Given the description of an element on the screen output the (x, y) to click on. 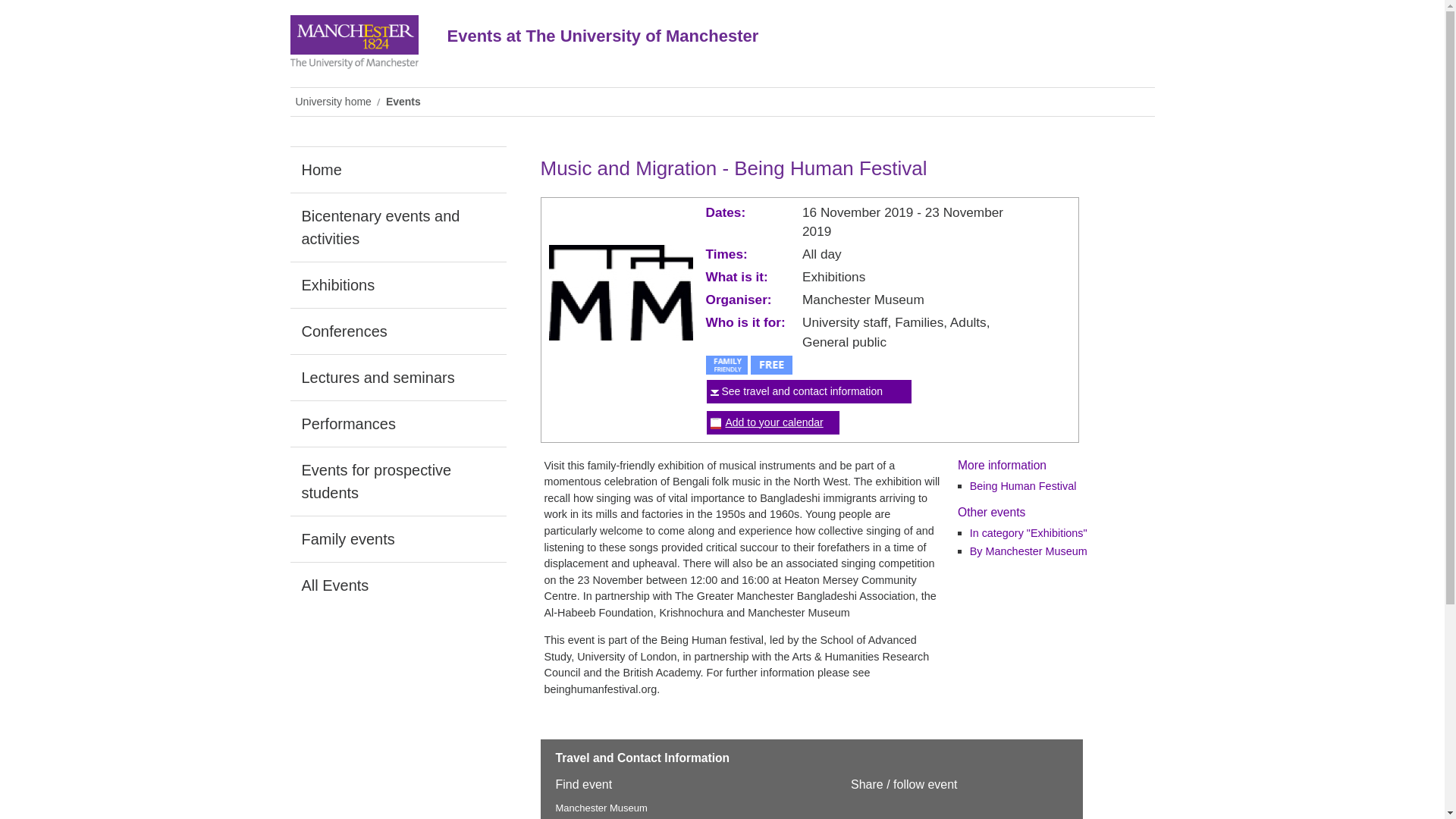
University home (334, 101)
Lectures and seminars (397, 377)
See travel and contact information (802, 390)
All Events (397, 585)
Family events (397, 538)
Events at The University of Manchester (752, 47)
In category "Exhibitions" (1028, 532)
Home (397, 169)
Events for prospective students (397, 481)
Being Human Festival (1023, 485)
Bicentenary events and activities (397, 227)
Events (404, 101)
Download iCal file (773, 421)
Add to your calendar (773, 421)
Performances (397, 423)
